Given the description of an element on the screen output the (x, y) to click on. 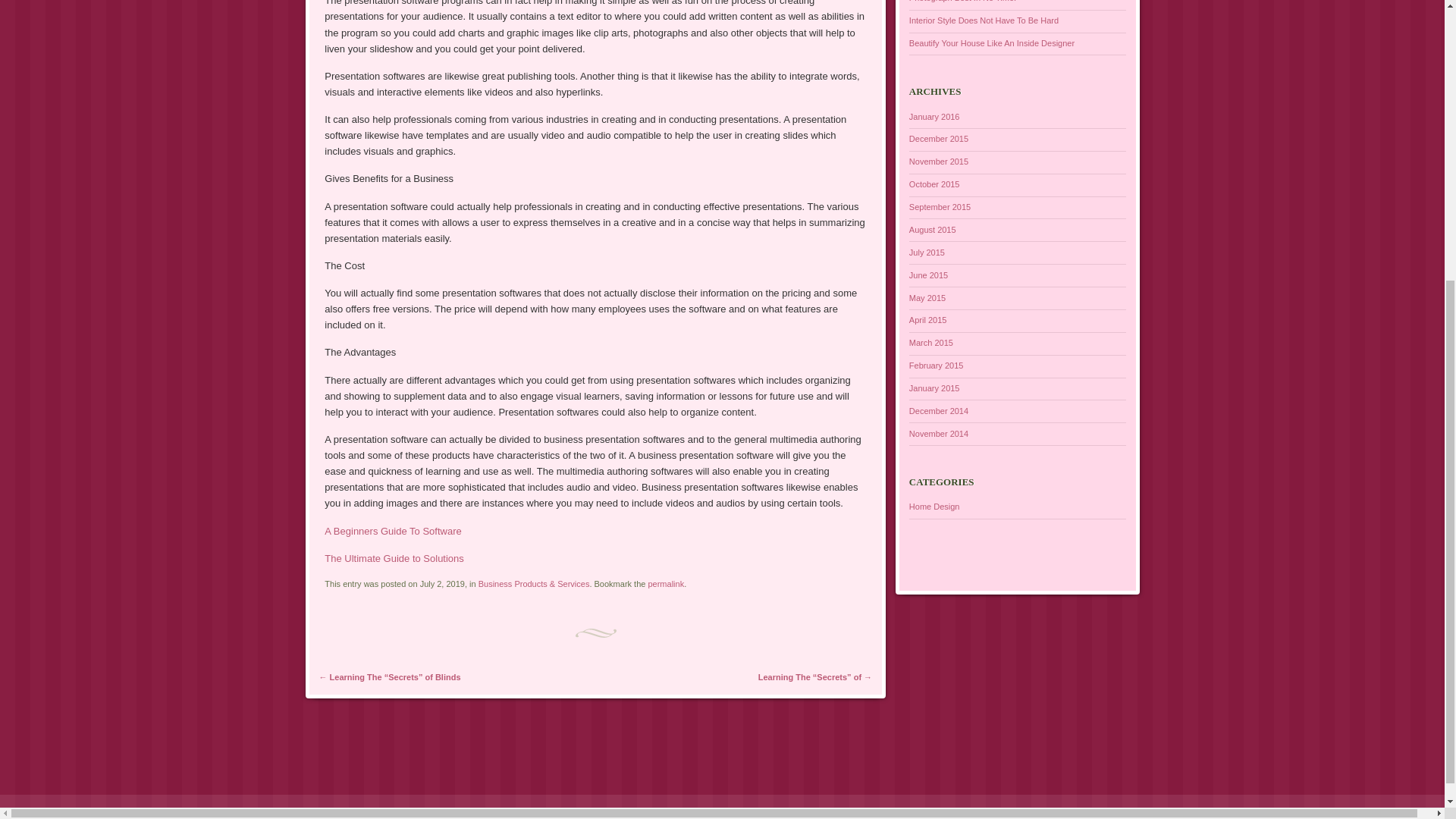
June 2015 (927, 275)
March 2015 (930, 342)
November 2014 (938, 433)
January 2015 (933, 388)
permalink (665, 583)
January 2016 (933, 116)
July 2015 (926, 252)
Home Design (933, 506)
December 2014 (938, 410)
